Given the description of an element on the screen output the (x, y) to click on. 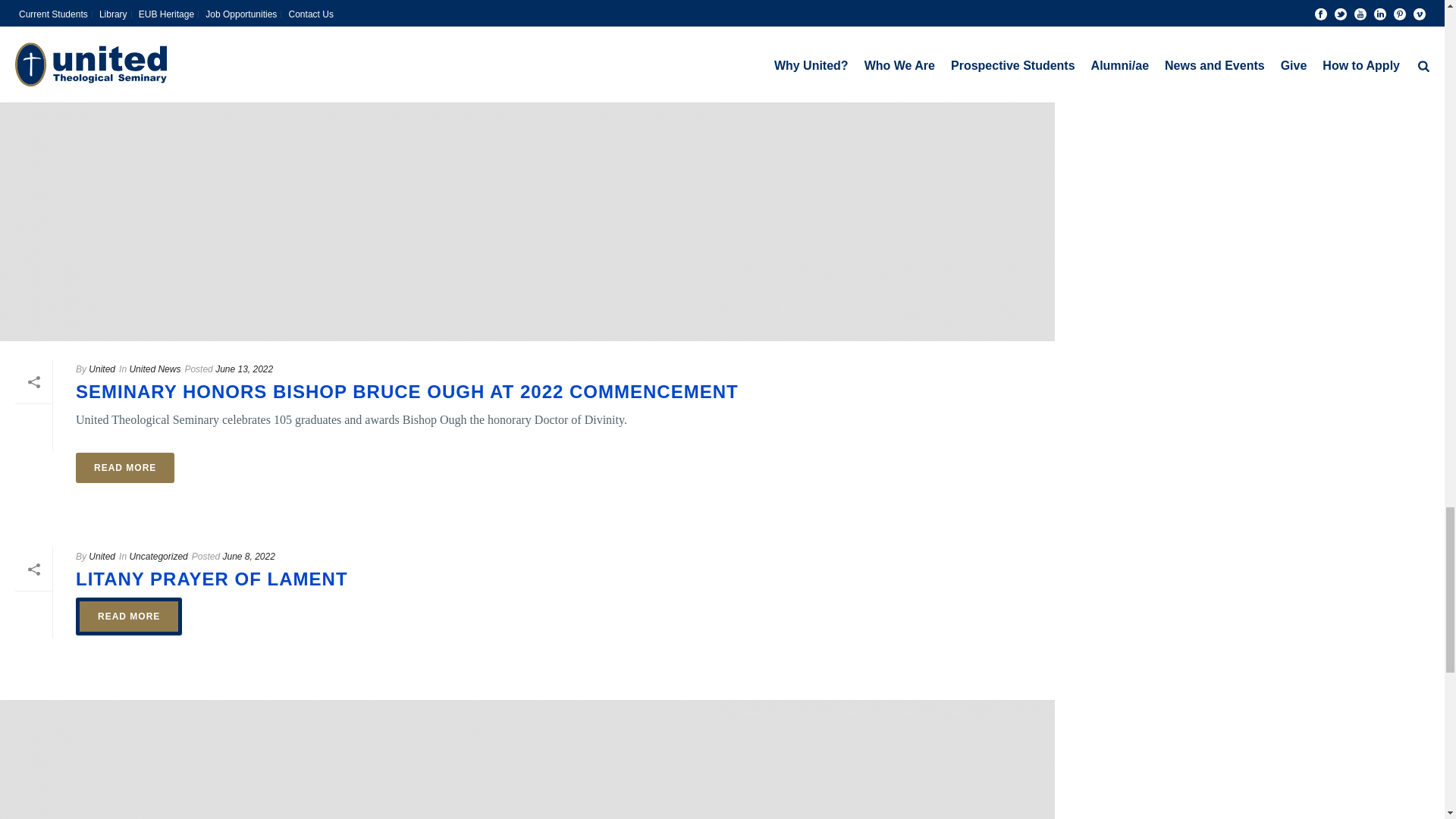
READ MORE (124, 467)
READ MORE (124, 8)
READ MORE (128, 616)
